Given the description of an element on the screen output the (x, y) to click on. 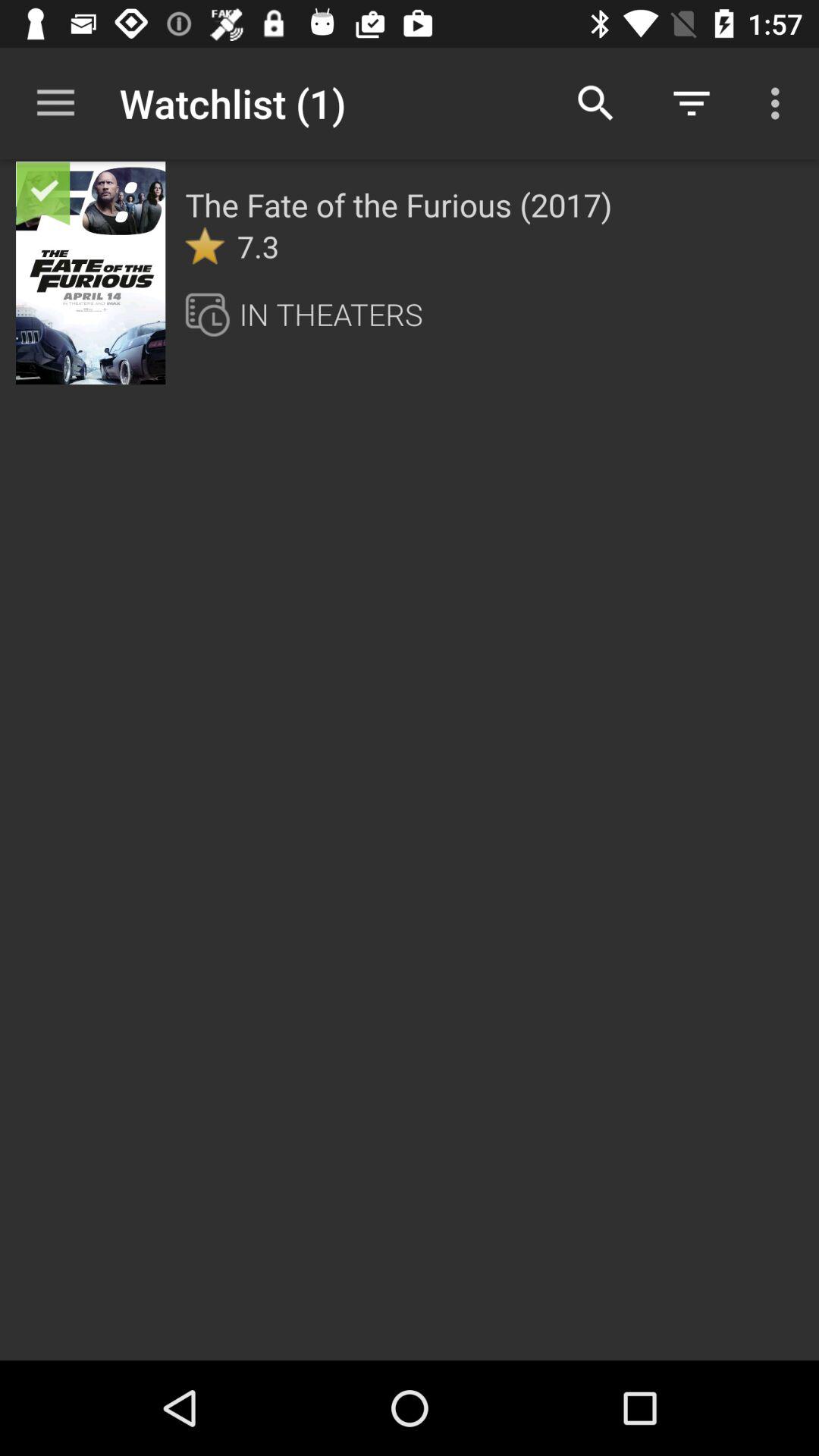
press the the fate of item (398, 204)
